Given the description of an element on the screen output the (x, y) to click on. 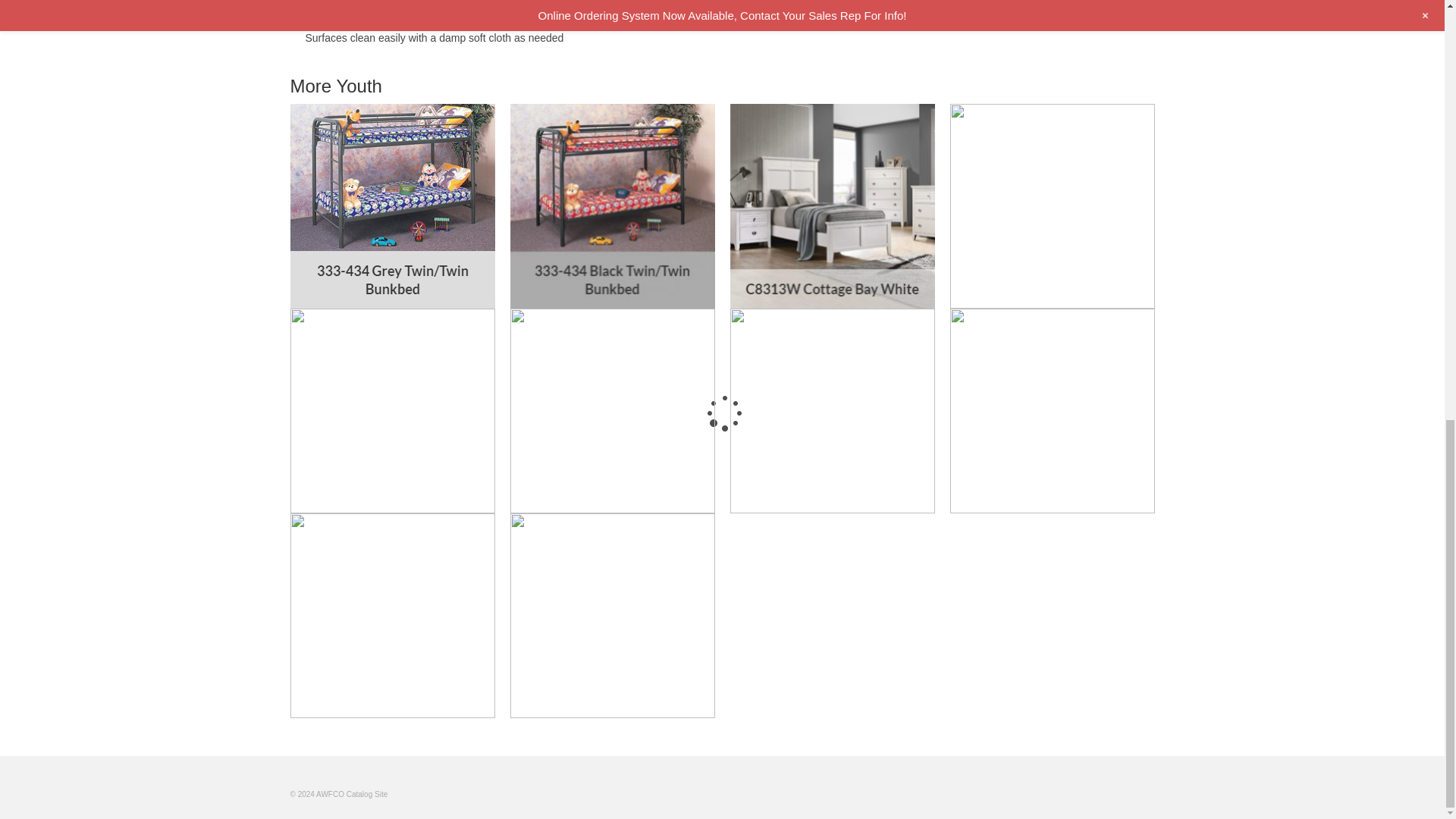
C4937 Martini Cherry Louis Philippe Bedroom (1051, 206)
209 A-Frame Bunk Grey (611, 410)
C8313W Cottage Bay White (831, 206)
634 Twin Chestnut Captains Bed (392, 410)
